Given the description of an element on the screen output the (x, y) to click on. 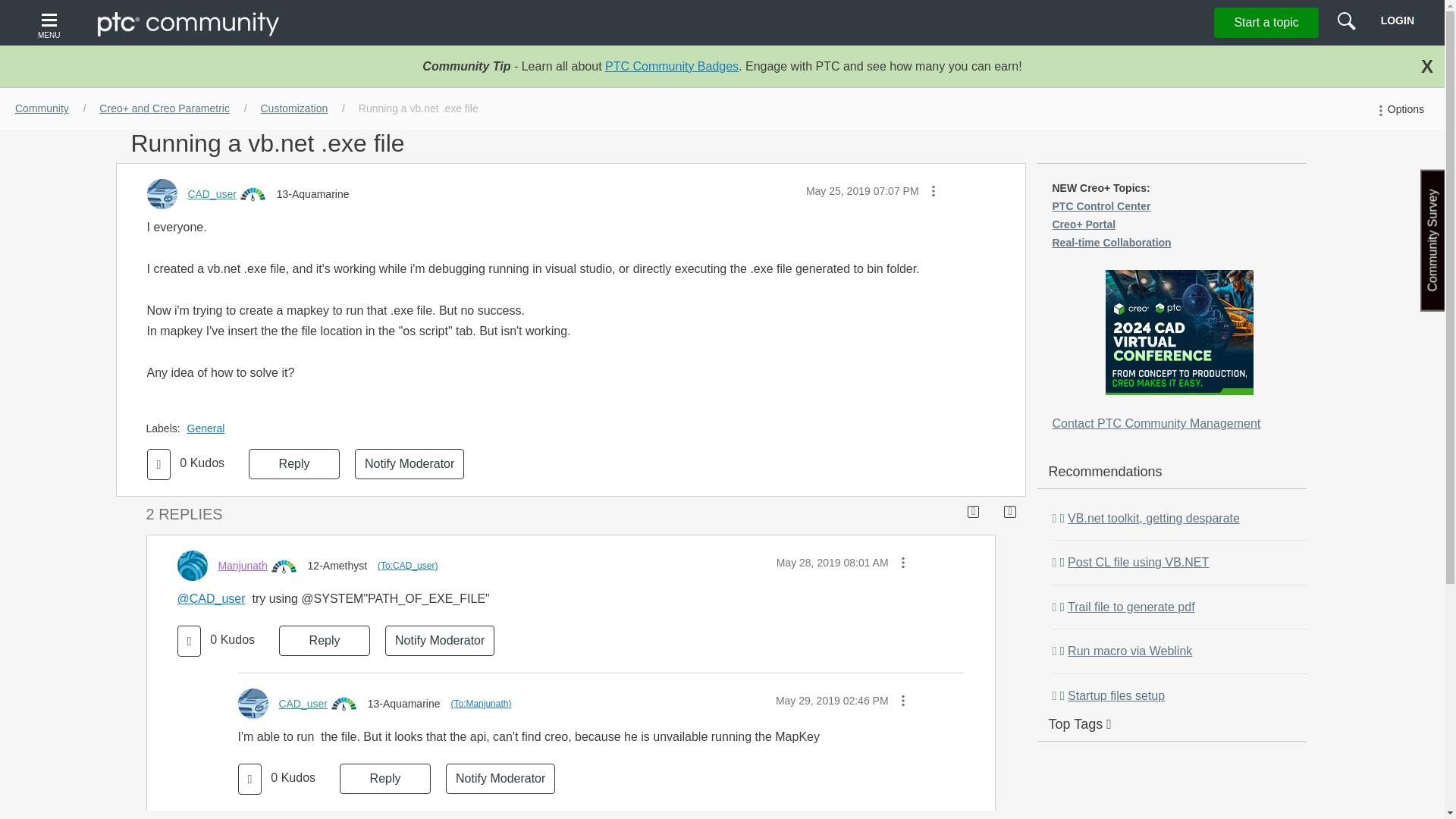
Start a topic (1265, 22)
Options (1398, 109)
LOGIN (1396, 20)
PTC Community Badges (671, 65)
Community (42, 108)
MENU (50, 22)
Customization (294, 108)
